Given the description of an element on the screen output the (x, y) to click on. 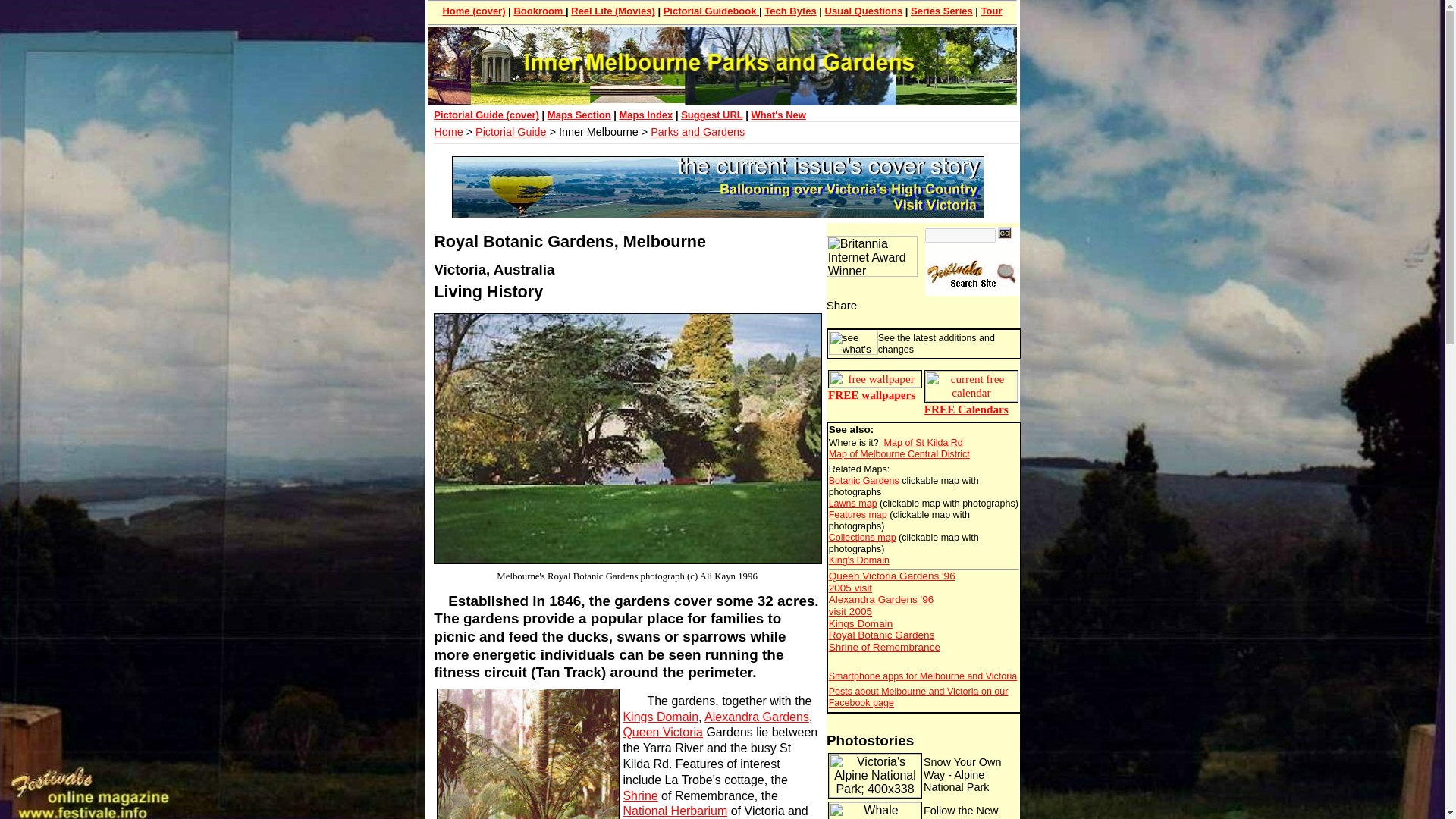
Parks and Gardens (697, 132)
Yarra (659, 748)
Shrine (640, 795)
National Herbarium (674, 810)
Tech Bytes (789, 10)
Pictorial Guidebook (710, 10)
Usual Questions (863, 10)
Home (448, 132)
Tour (992, 10)
Bookroom (539, 10)
